Given the description of an element on the screen output the (x, y) to click on. 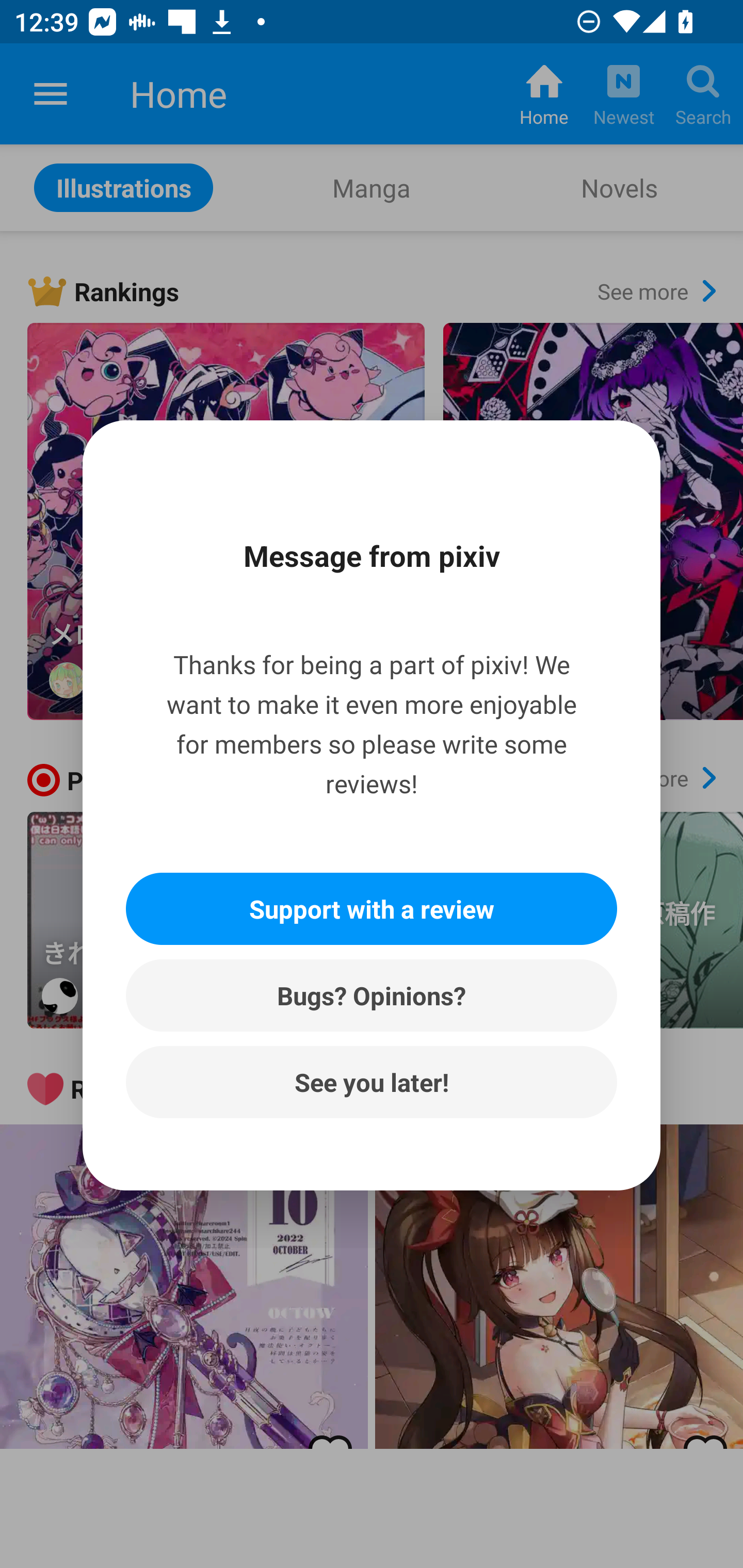
Support with a review (371, 909)
Bugs? Opinions? (371, 995)
See you later! (371, 1081)
